Given the description of an element on the screen output the (x, y) to click on. 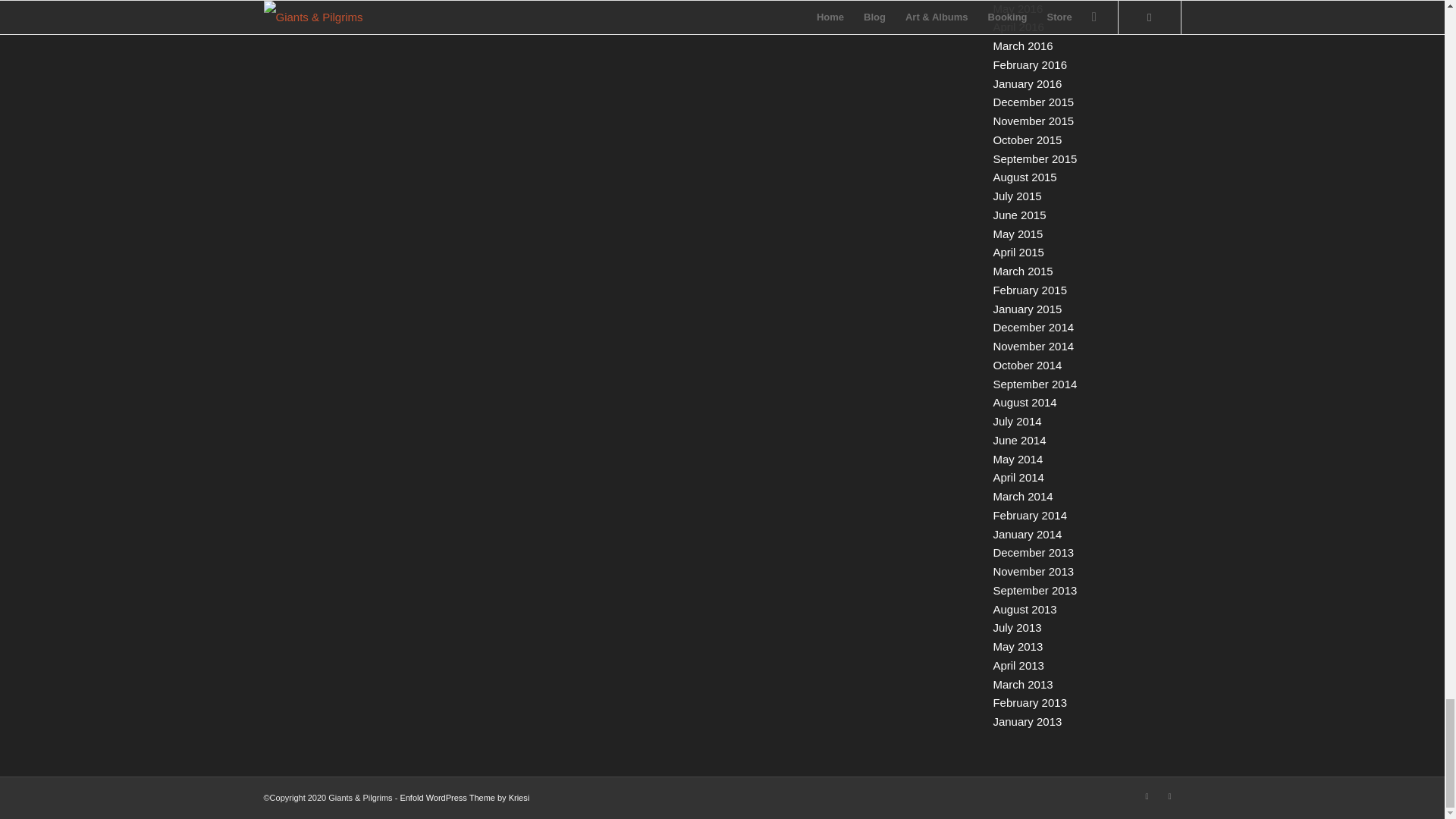
Facebook (1169, 795)
Instagram (1146, 795)
